Given the description of an element on the screen output the (x, y) to click on. 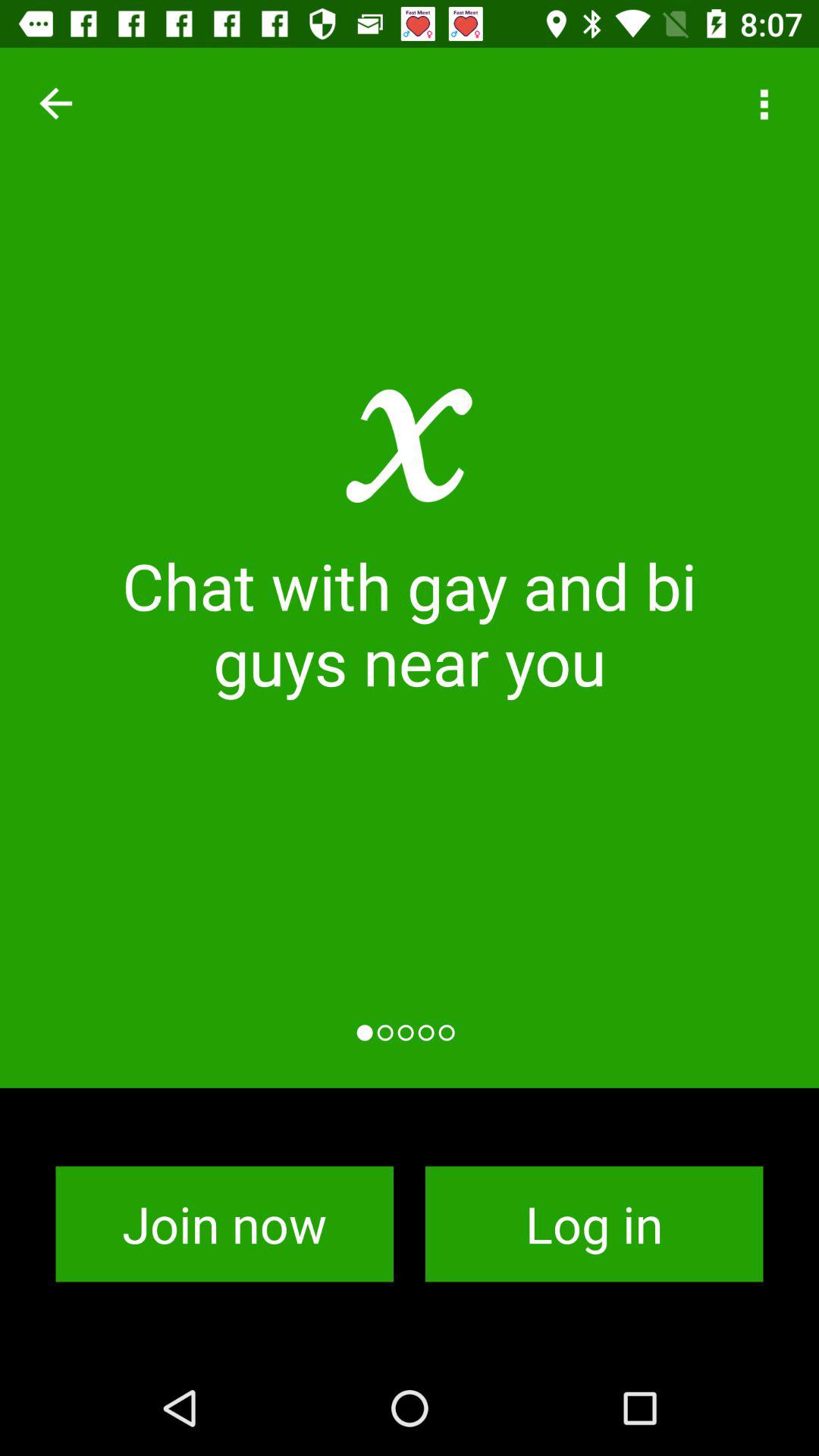
choose the app at the bottom left corner (224, 1223)
